Given the description of an element on the screen output the (x, y) to click on. 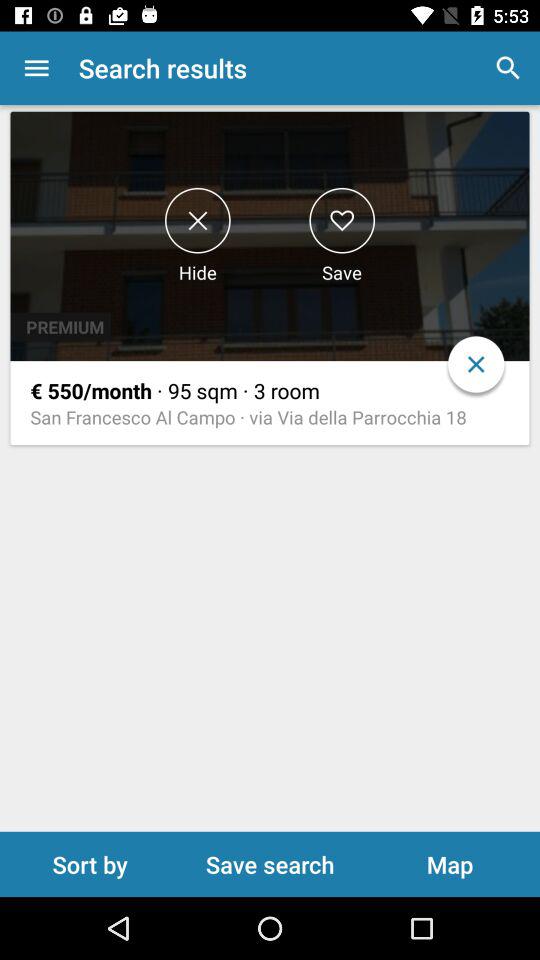
press the icon to the right of the save search item (450, 863)
